Given the description of an element on the screen output the (x, y) to click on. 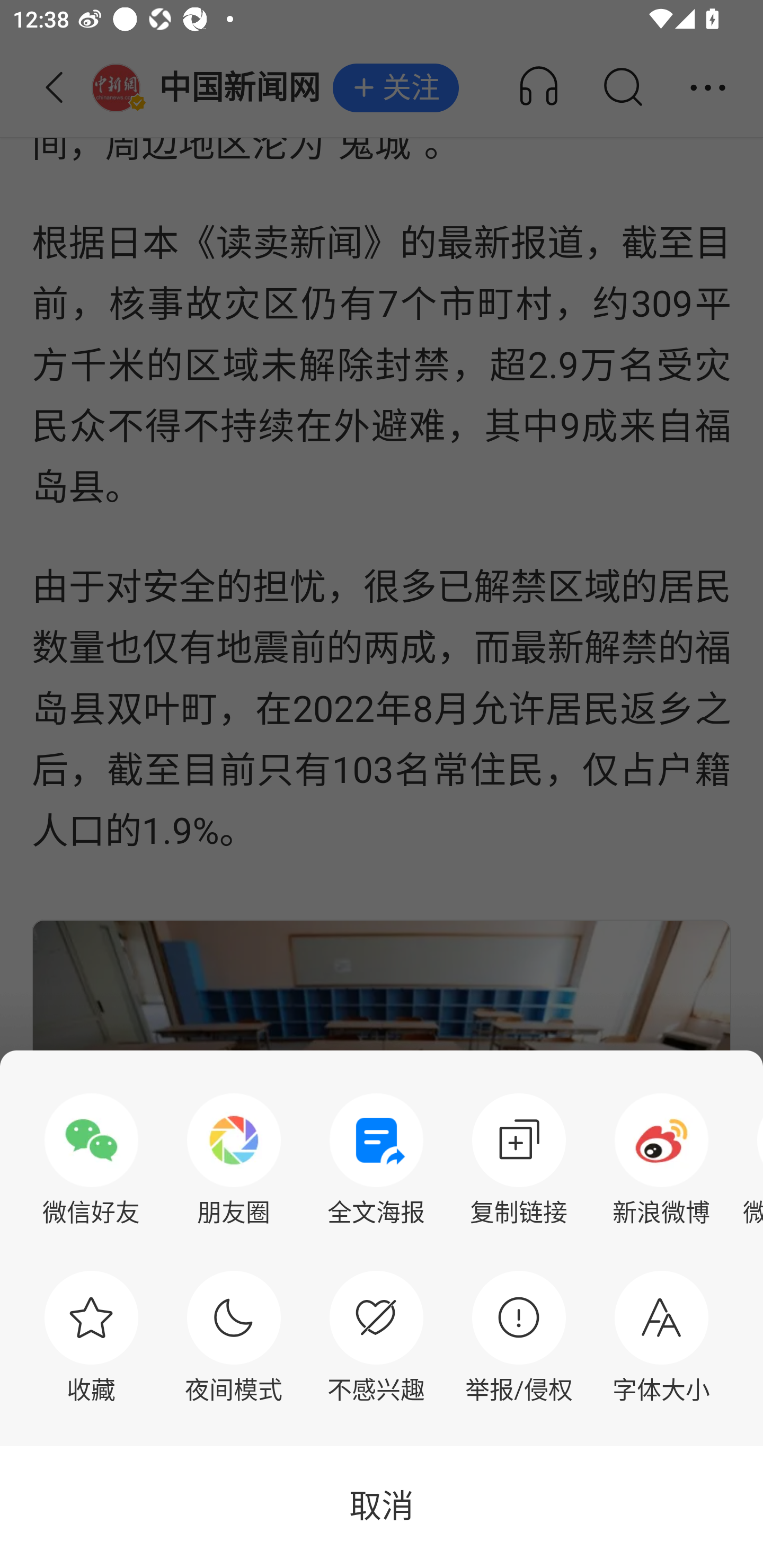
微信好友 (90, 1159)
朋友圈 (233, 1159)
全文海报 (376, 1159)
 复制链接 复制链接 (518, 1159)
新浪微博 (661, 1159)
 收藏 收藏 (90, 1337)
 夜间模式 夜间模式 (233, 1337)
 不感兴趣 不感兴趣 (376, 1337)
 举报/侵权 举报/侵权 (518, 1337)
 字体大小 字体大小 (661, 1337)
取消 (381, 1506)
